Given the description of an element on the screen output the (x, y) to click on. 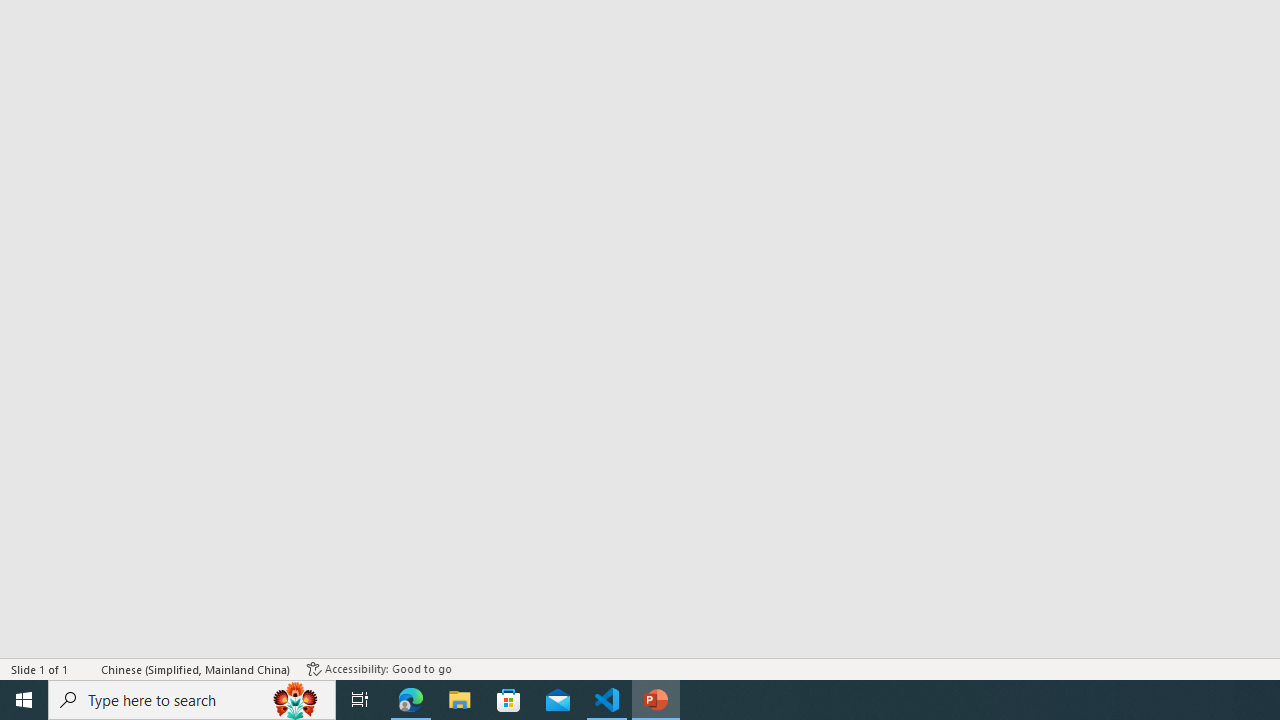
Spell Check  (86, 668)
